Given the description of an element on the screen output the (x, y) to click on. 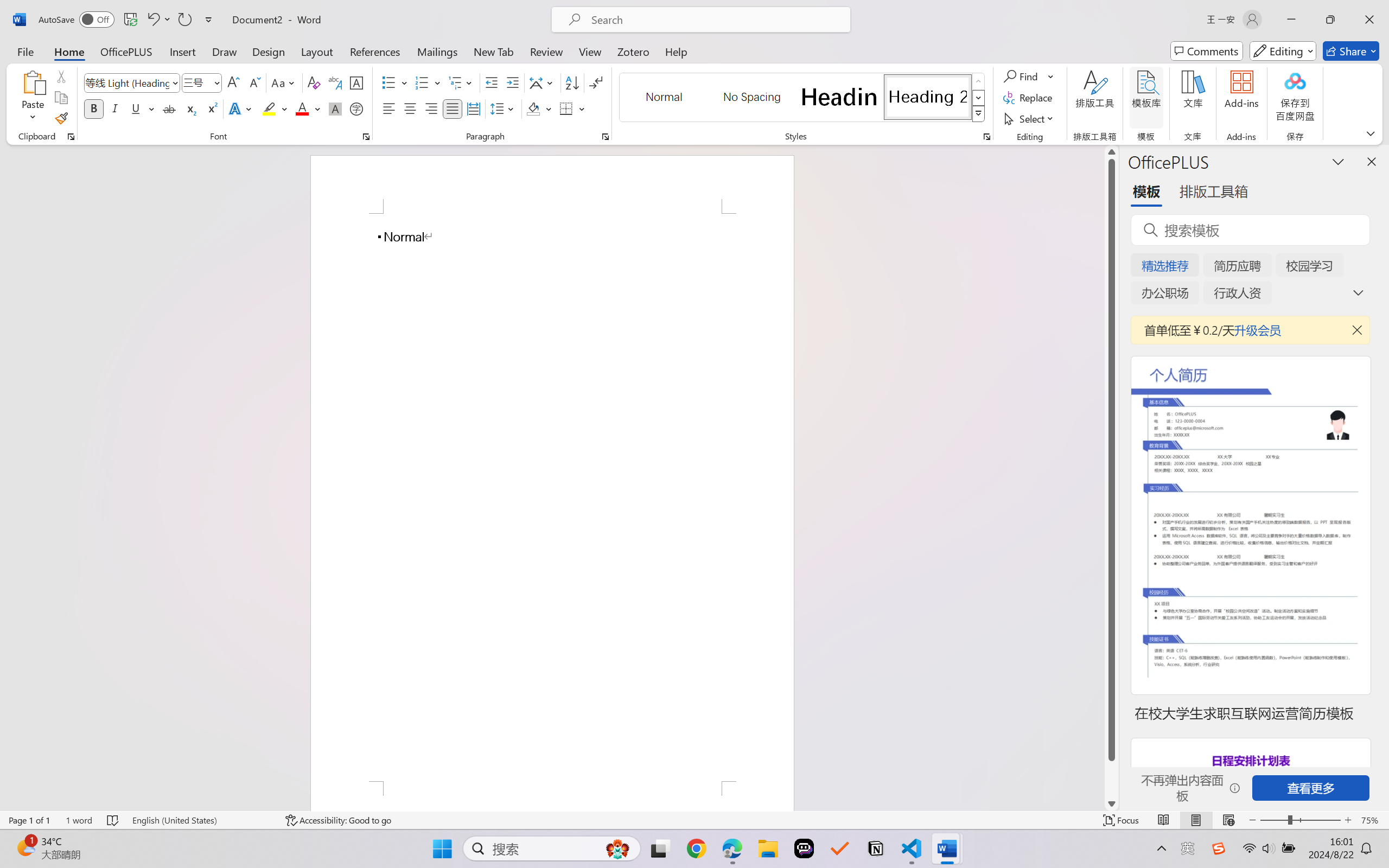
Borders (566, 108)
AutomationID: QuickStylesGallery (802, 97)
Text Highlight Color (274, 108)
Replace... (1029, 97)
Increase Indent (512, 82)
Zotero (632, 51)
Bold (94, 108)
Styles... (986, 136)
Sort... (571, 82)
Styles (978, 113)
Shrink Font (253, 82)
Phonetic Guide... (334, 82)
